Given the description of an element on the screen output the (x, y) to click on. 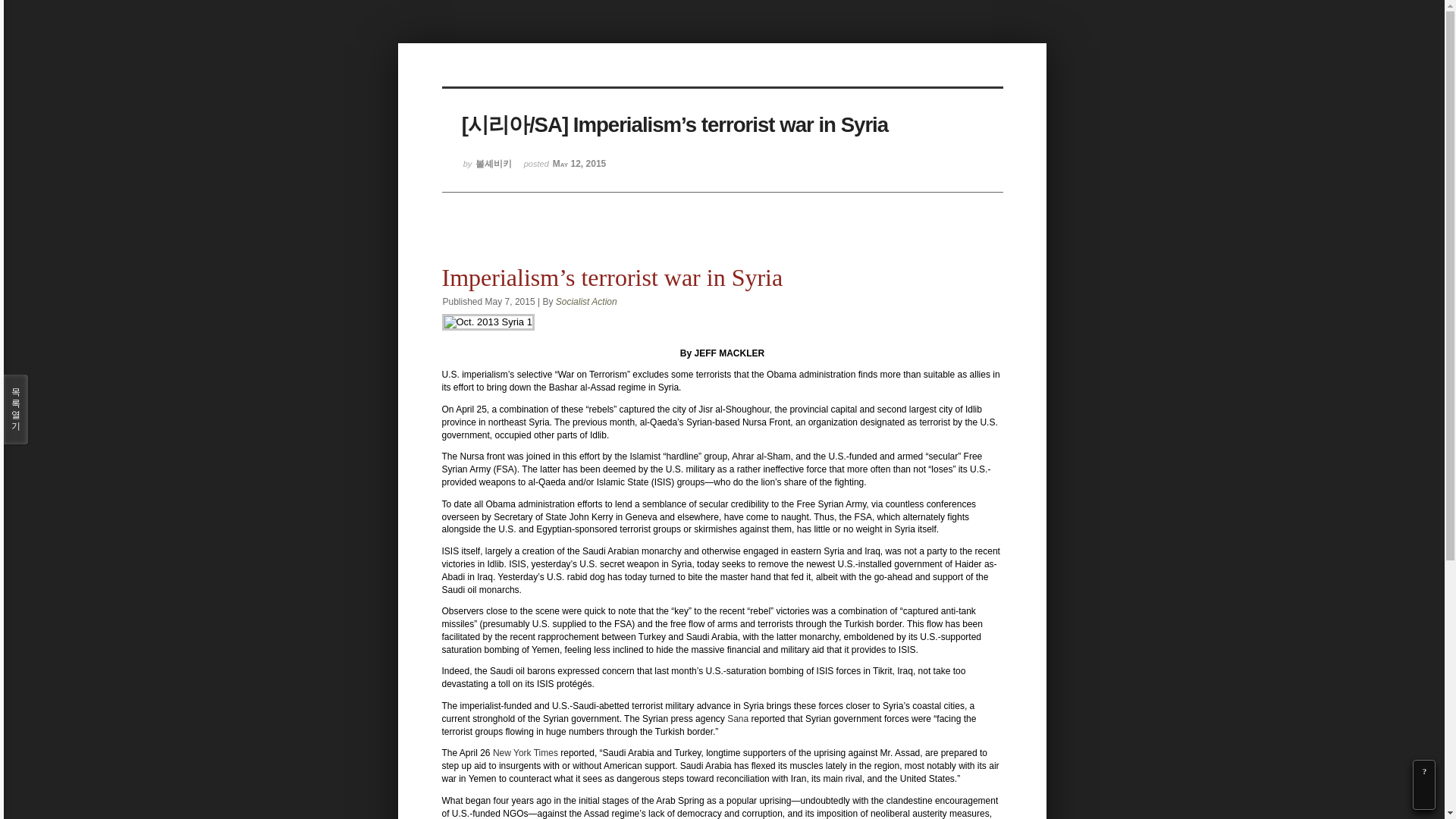
? (1423, 771)
11:55 am (509, 301)
View all posts by Socialist Action (586, 301)
2015.05.12 22:49 (565, 169)
Socialist Action (586, 301)
